Given the description of an element on the screen output the (x, y) to click on. 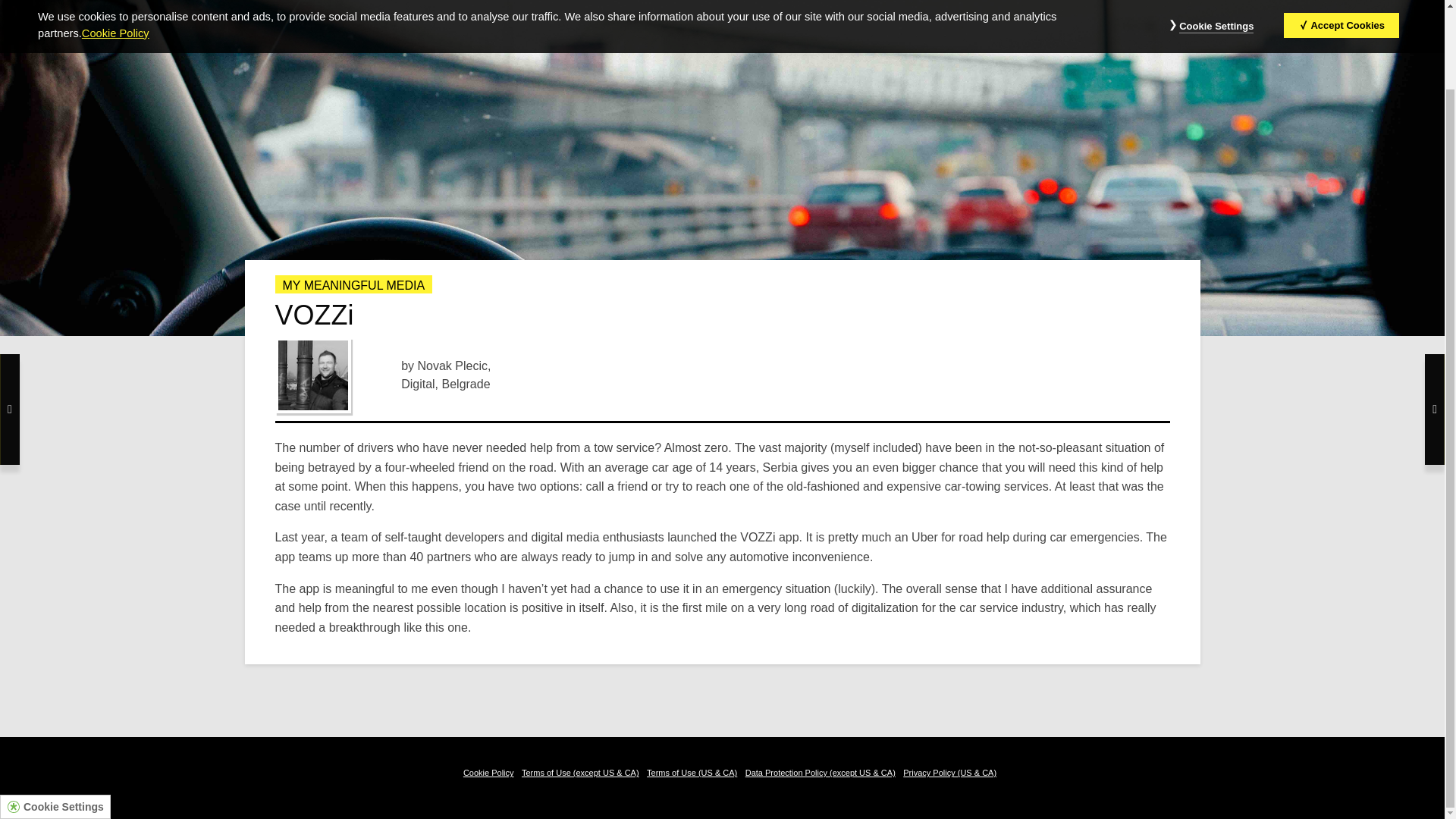
Cookie Settings (63, 717)
Cookie Policy (488, 772)
